Given the description of an element on the screen output the (x, y) to click on. 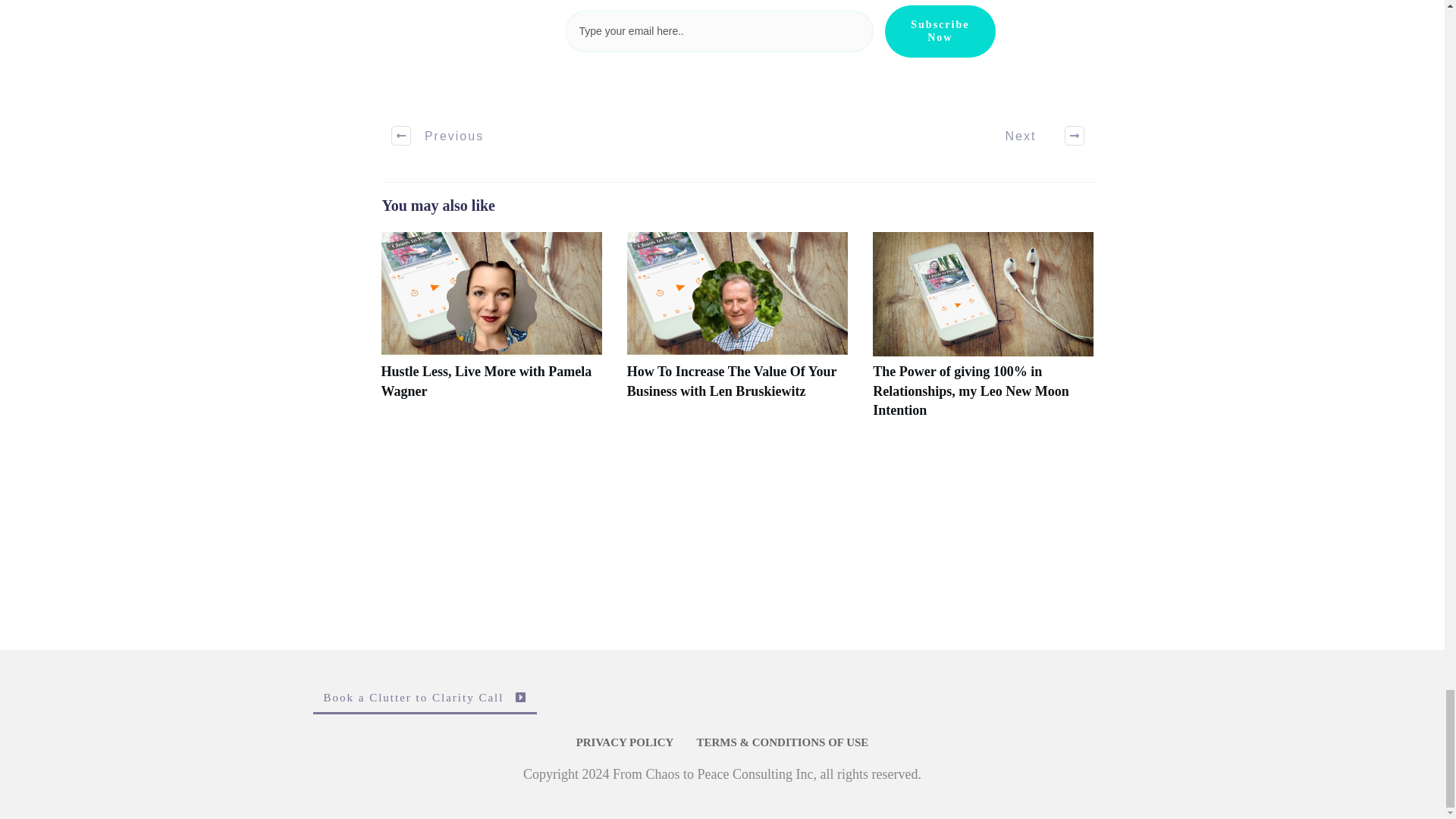
Hustle Less, Live More with Pamela Wagner (485, 380)
Subscribe Now (939, 31)
Hustle Less, Live More with Pamela Wagner (490, 332)
Next (1036, 135)
Previous (438, 135)
Hustle Less, Live More with Pamela Wagner (485, 380)
